Given the description of an element on the screen output the (x, y) to click on. 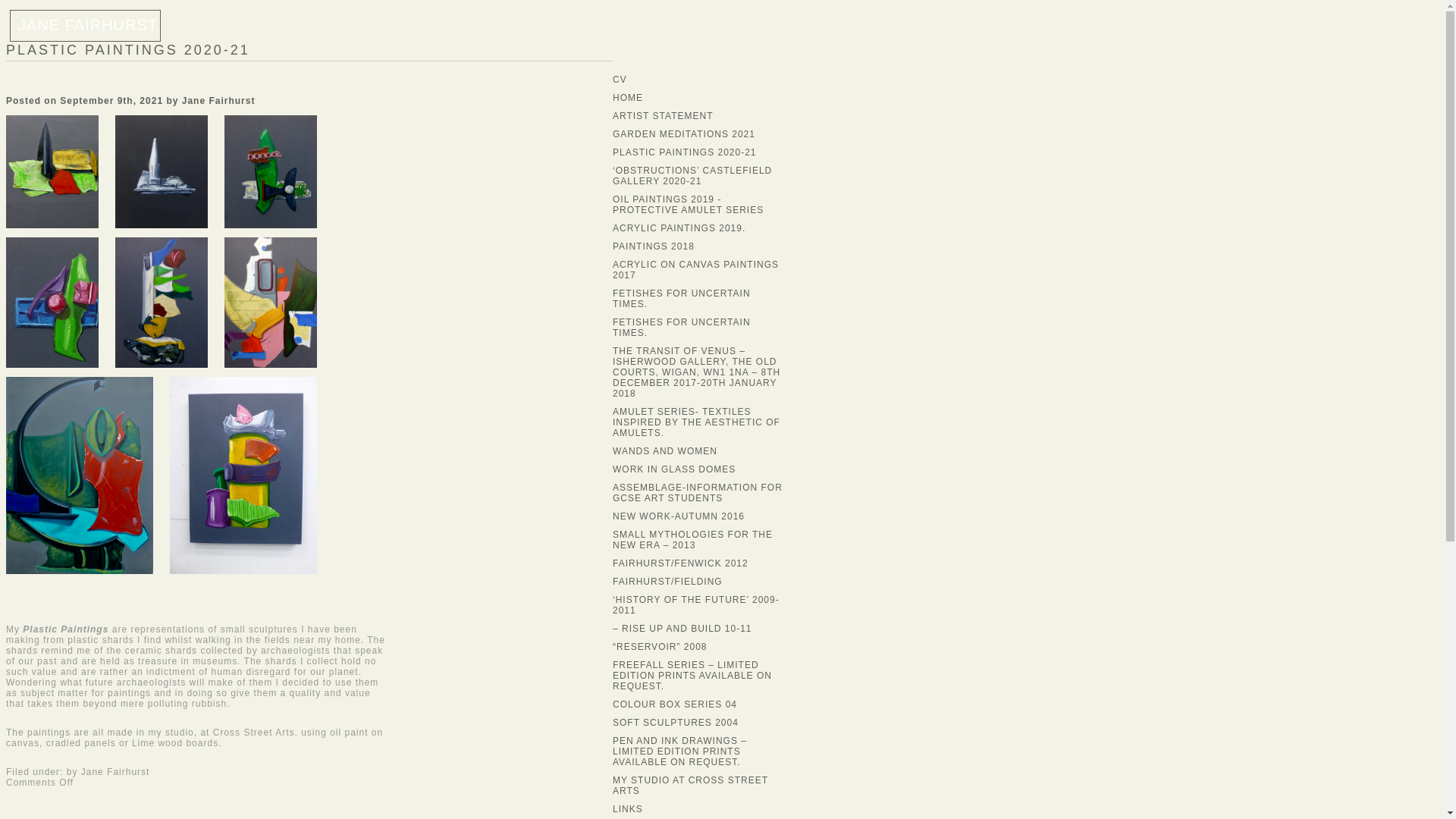
ARTIST STATEMENT (662, 115)
HOME (627, 97)
GARDEN MEDITATIONS 2021 (683, 133)
NEW WORK-AUTUMN 2016 (678, 516)
FETISHES FOR UNCERTAIN TIMES. (681, 298)
MY STUDIO AT CROSS STREET ARTS (690, 785)
ACRYLIC ON CANVAS PAINTINGS 2017 (695, 269)
FETISHES FOR UNCERTAIN TIMES. (681, 327)
ACRYLIC PAINTINGS 2019. (678, 227)
ASSEMBLAGE-INFORMATION FOR GCSE ART STUDENTS (697, 492)
